Given the description of an element on the screen output the (x, y) to click on. 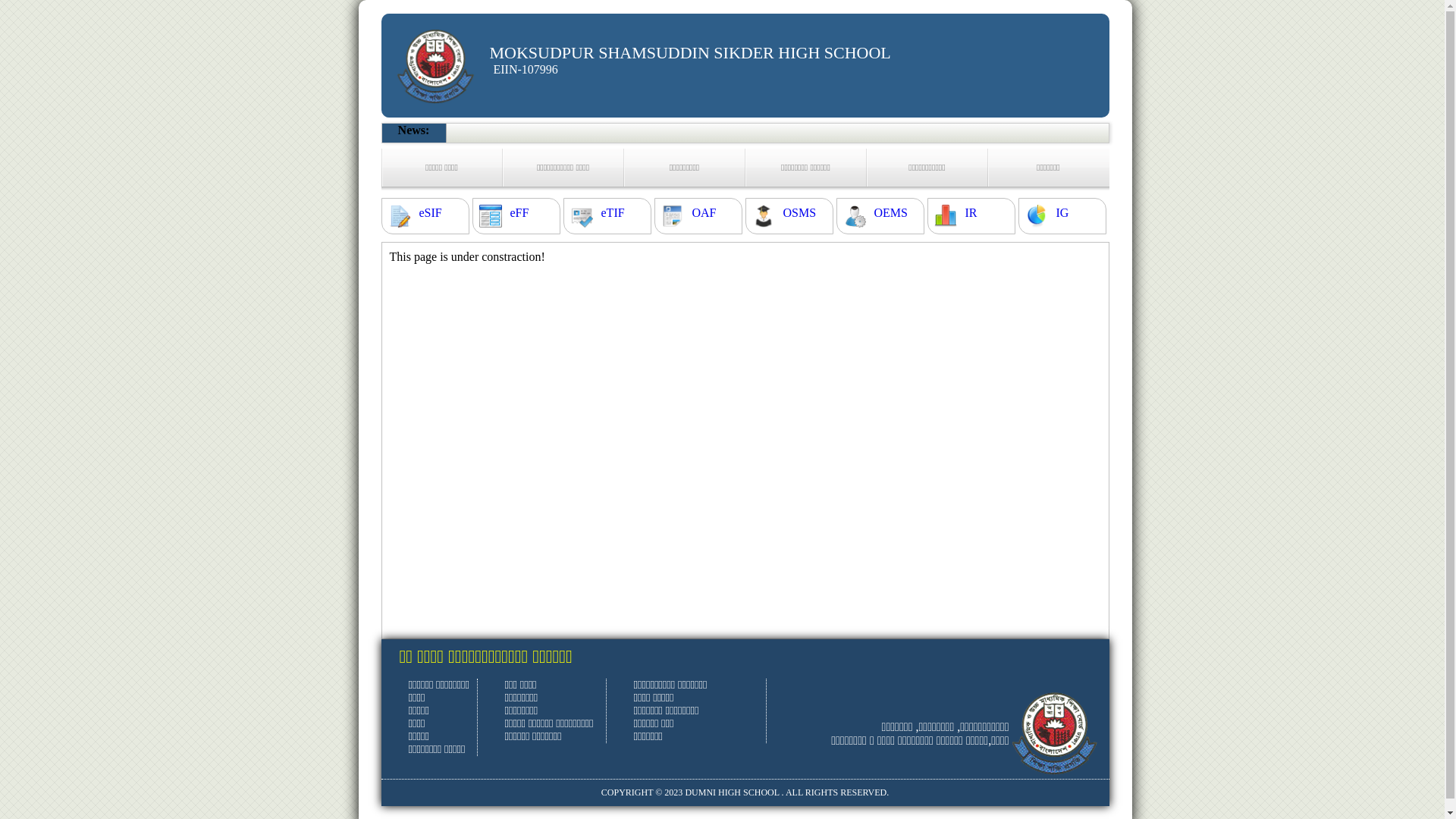
eFF Element type: text (518, 212)
IR Element type: text (970, 212)
IG Element type: text (1061, 212)
OSMS Element type: text (798, 212)
OEMS Element type: text (889, 212)
eTIF Element type: text (612, 212)
eSIF Element type: text (429, 212)
DUMNI HIGH SCHOOL Element type: text (731, 792)
OAF Element type: text (703, 212)
